Given the description of an element on the screen output the (x, y) to click on. 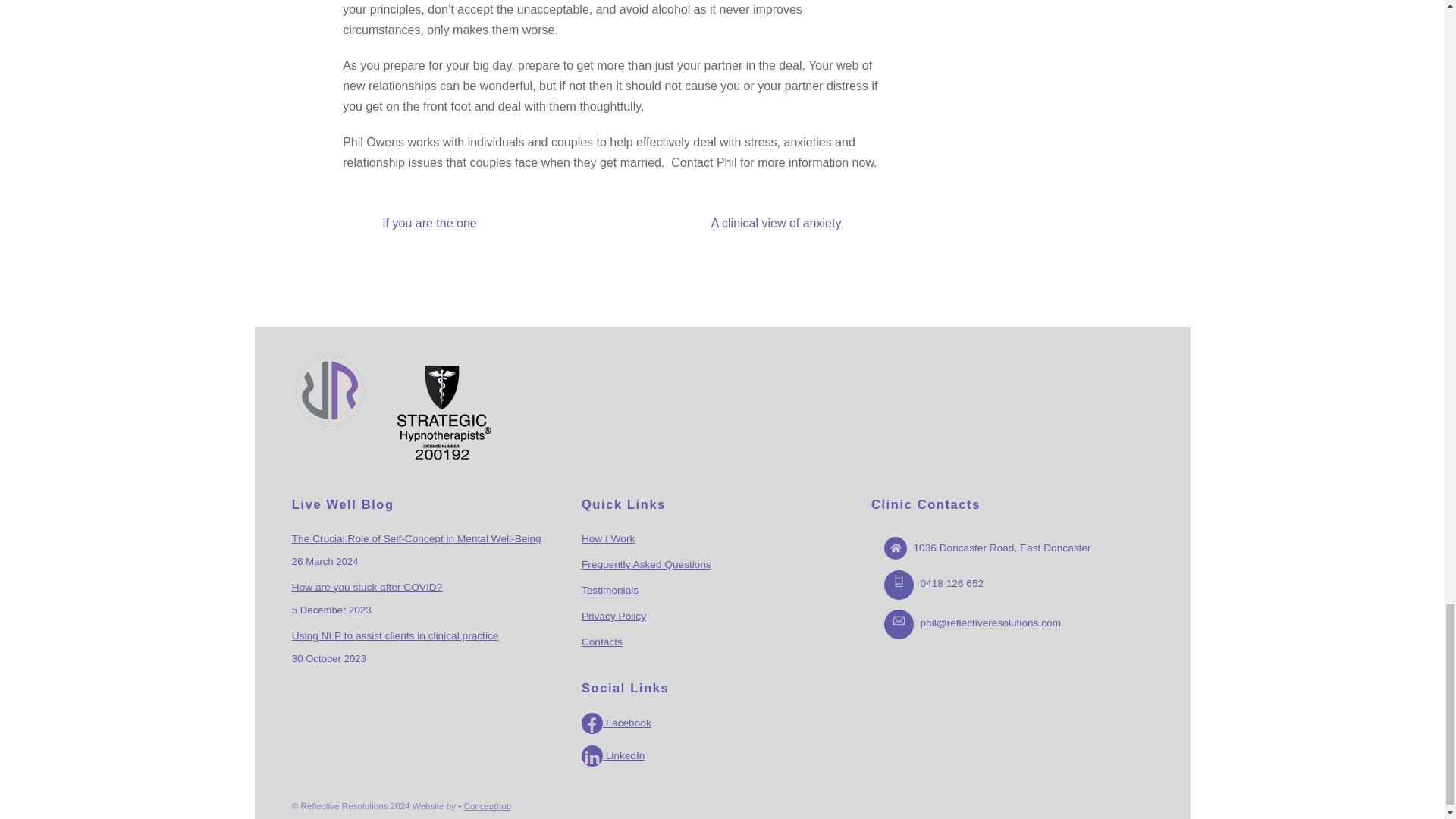
Reflective Resolutions (330, 422)
How are you stuck after COVID? (367, 587)
A clinical view of anxiety (803, 223)
Using NLP to assist clients in clinical practice (395, 636)
Testimonials (609, 590)
Privacy Policy (613, 615)
Contacts (601, 641)
Facebook (615, 722)
LinkedIn (612, 755)
How I Work (607, 538)
The Crucial Role of Self-Concept in Mental Well-Being (416, 538)
Concepthub (488, 805)
Frequently Asked Questions (645, 564)
If you are the one (402, 223)
